Given the description of an element on the screen output the (x, y) to click on. 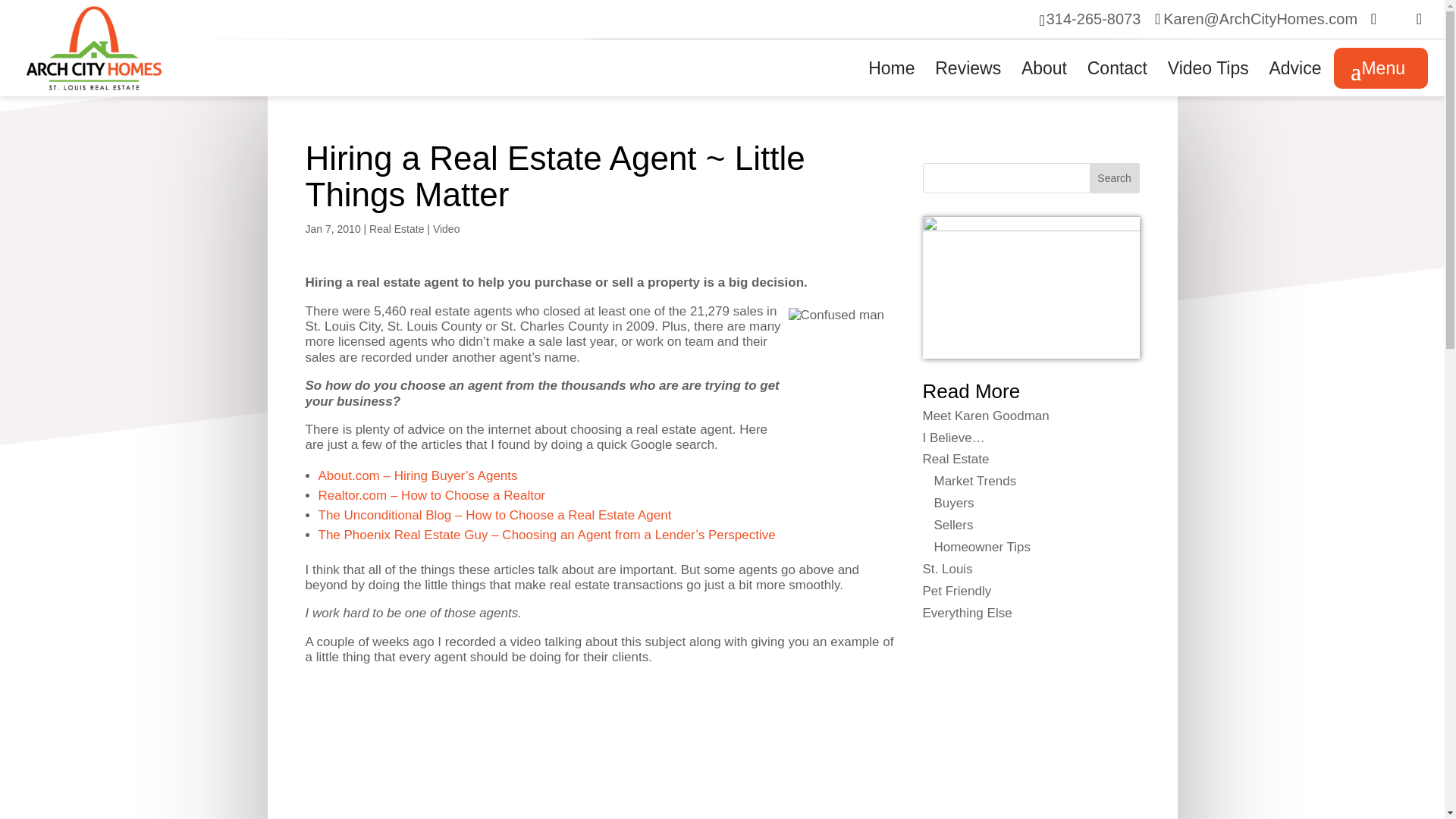
Video (446, 228)
Real Estate (396, 228)
Reviews (967, 79)
314-265-8073 (1093, 18)
About (1044, 79)
Home (890, 79)
Advice (1294, 79)
Video Tips (1208, 79)
Menu (1380, 67)
Search (1114, 177)
